Given the description of an element on the screen output the (x, y) to click on. 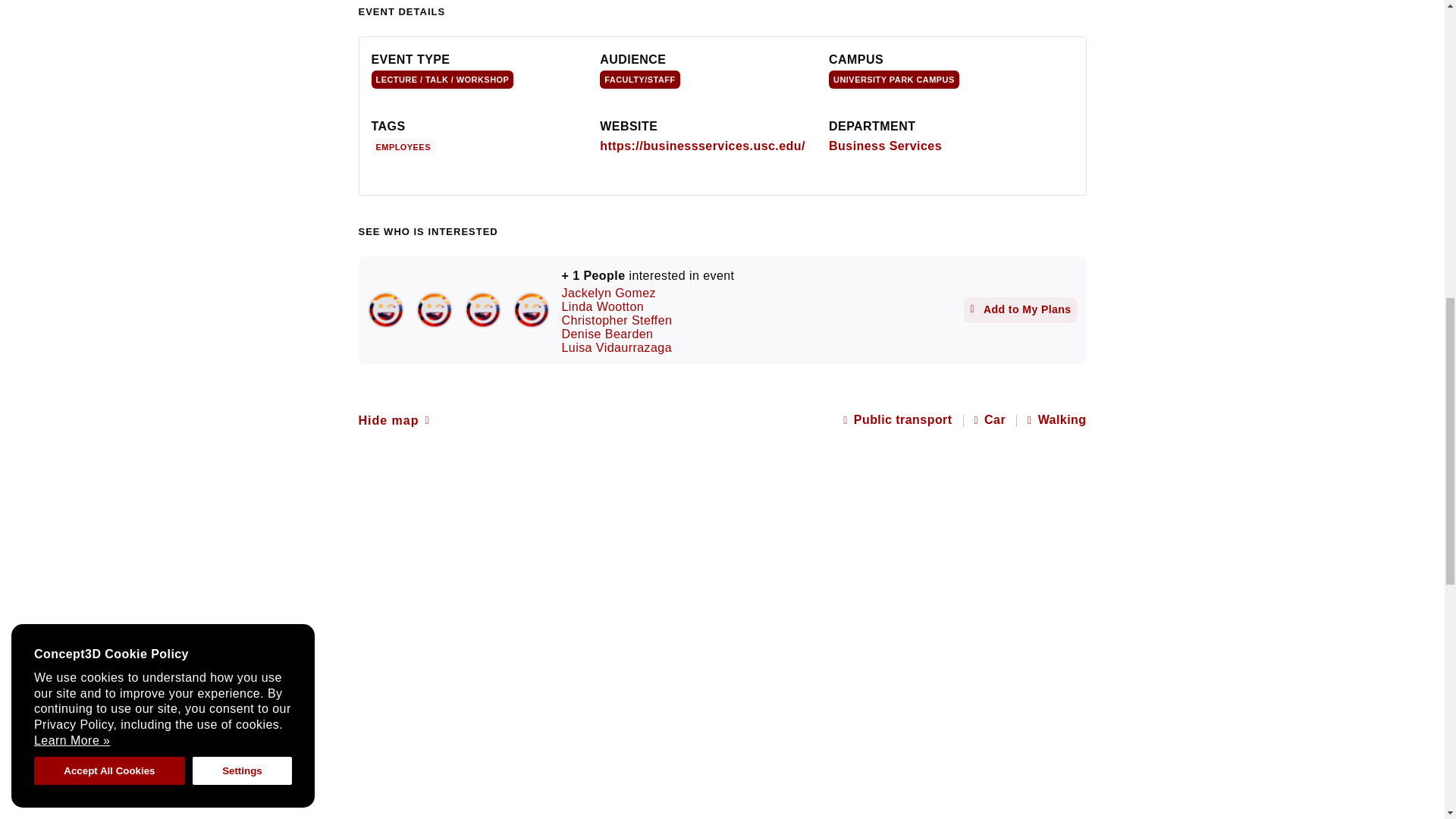
UNIVERSITY PARK CAMPUS (893, 79)
Business Services (885, 145)
EMPLOYEES (406, 145)
